Given the description of an element on the screen output the (x, y) to click on. 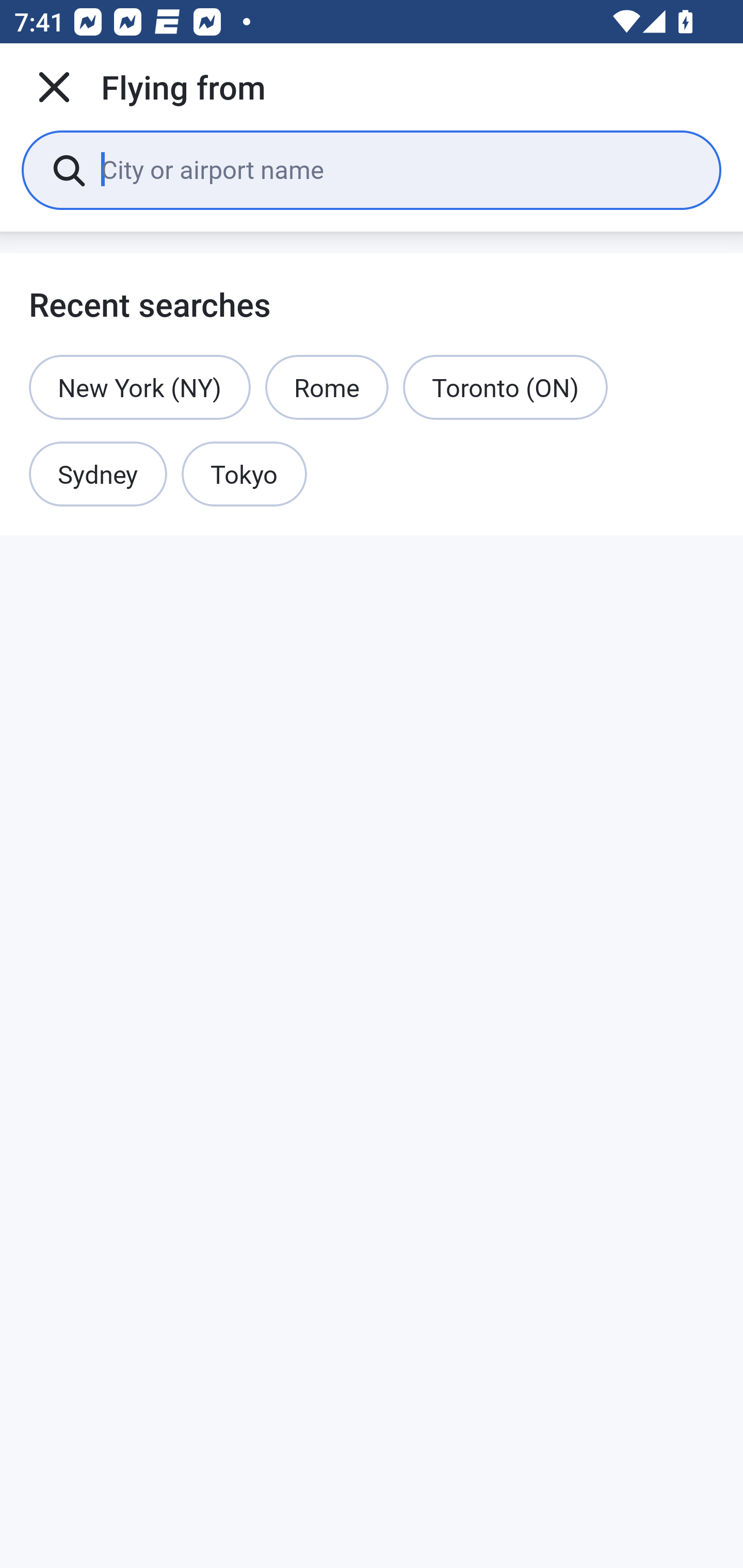
City or airport name (396, 169)
New York (NY) (139, 387)
Rome (326, 387)
Toronto (ON) (504, 387)
Sydney (97, 474)
Tokyo (243, 474)
